Given the description of an element on the screen output the (x, y) to click on. 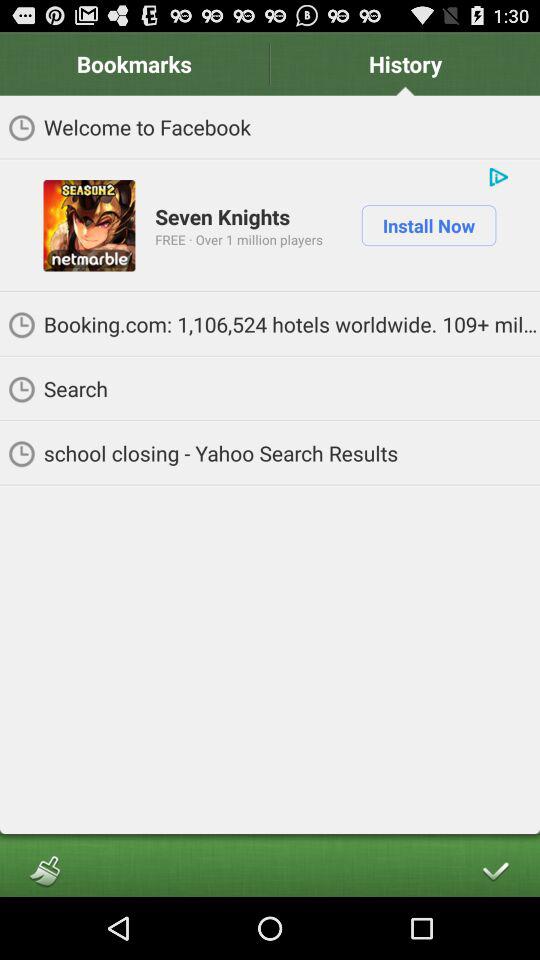
tap app next to the install now item (238, 239)
